Given the description of an element on the screen output the (x, y) to click on. 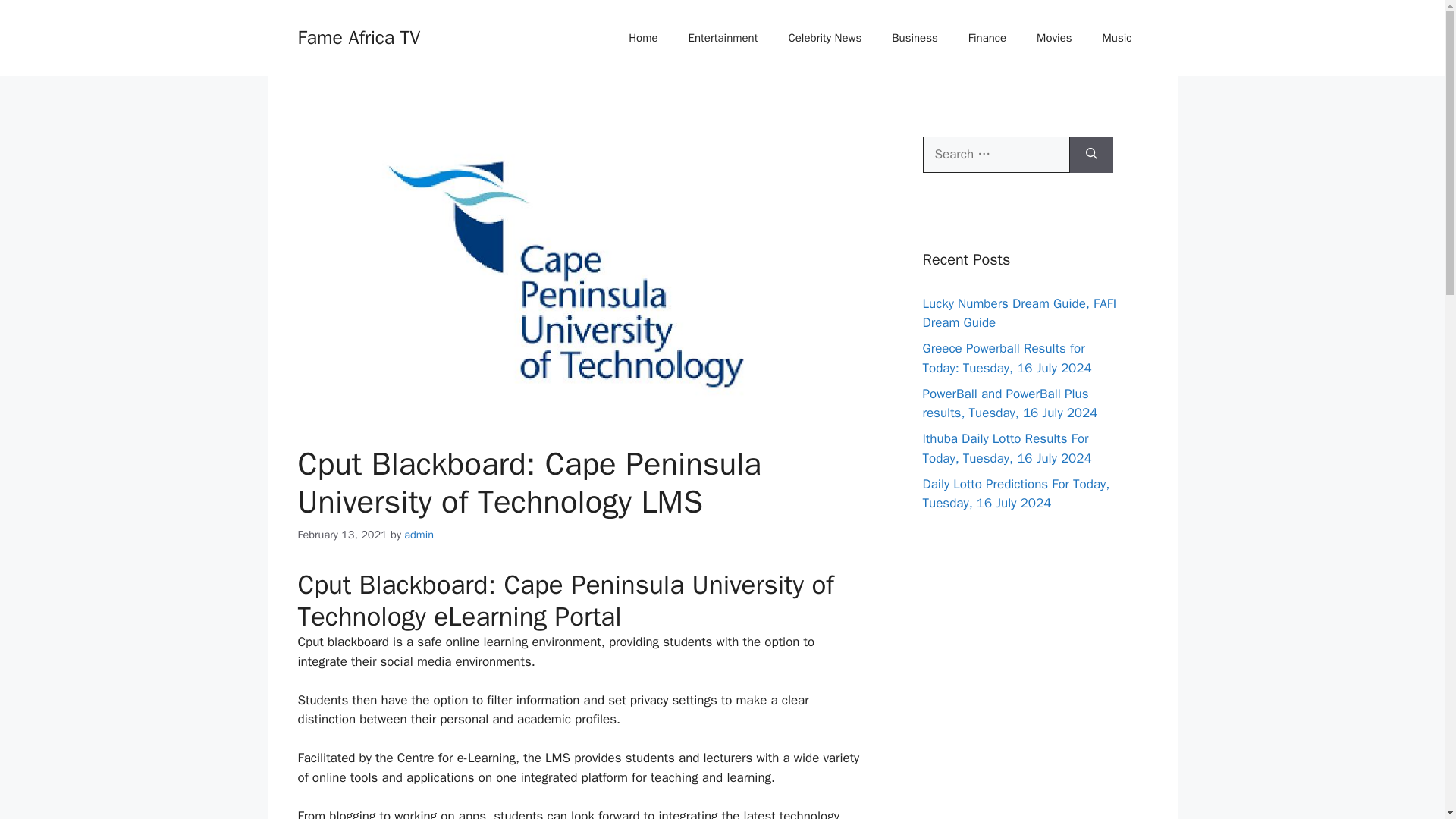
Movies (1054, 37)
Entertainment (722, 37)
View all posts by admin (418, 534)
Fame Africa TV (358, 37)
Music (1117, 37)
admin (418, 534)
Home (642, 37)
Celebrity News (825, 37)
Business (914, 37)
Search for: (994, 154)
Greece Powerball Results for Today: Tuesday, 16 July 2024 (1005, 357)
Ithuba Daily Lotto Results For Today, Tuesday, 16 July 2024 (1005, 448)
Finance (987, 37)
PowerBall and PowerBall Plus results, Tuesday, 16 July 2024 (1009, 402)
Daily Lotto Predictions For Today, Tuesday, 16 July 2024 (1015, 493)
